Given the description of an element on the screen output the (x, y) to click on. 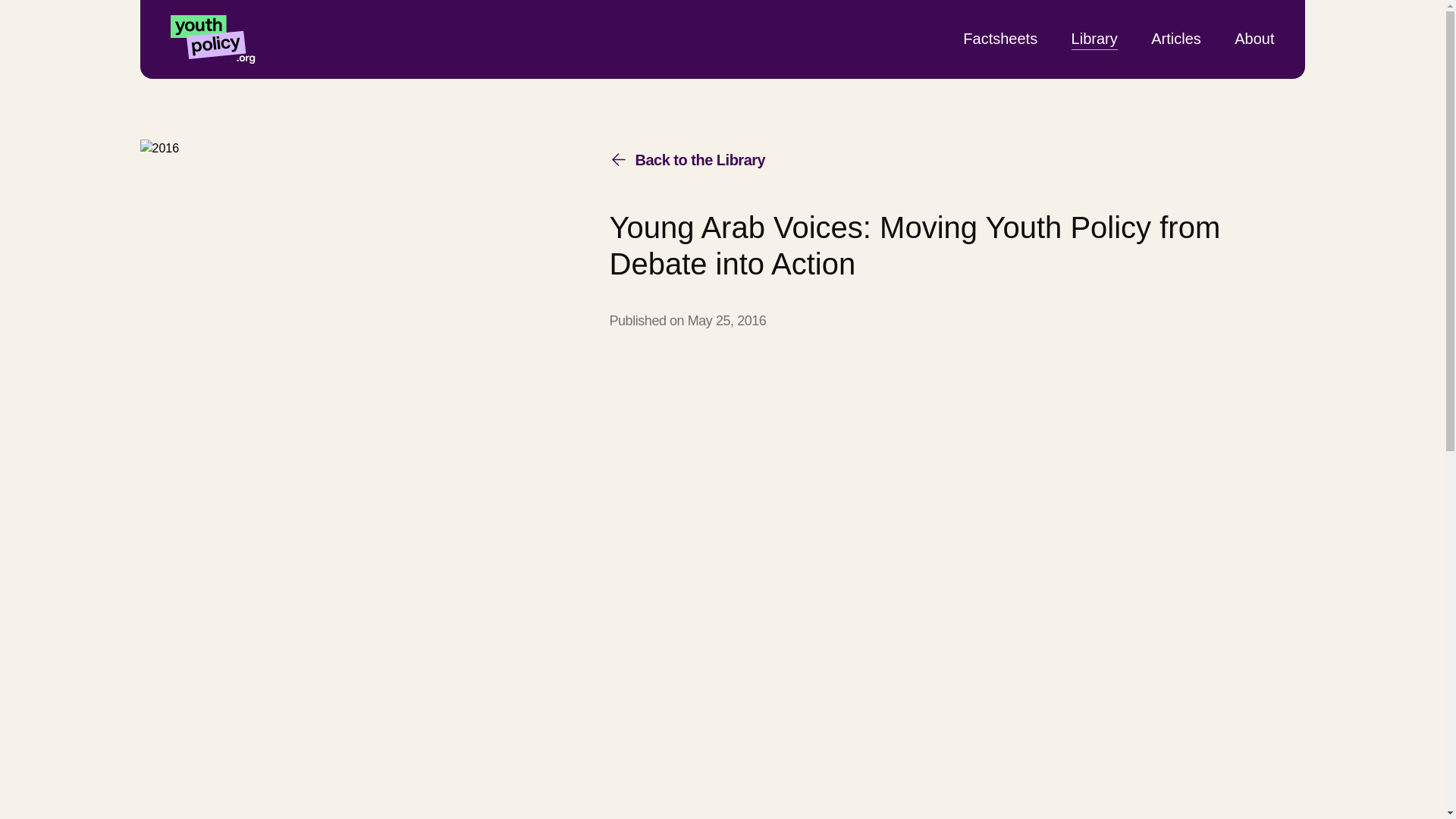
Factsheets (999, 38)
About (1254, 38)
Library (1094, 38)
Back to the Library (687, 159)
Articles (1176, 38)
